Given the description of an element on the screen output the (x, y) to click on. 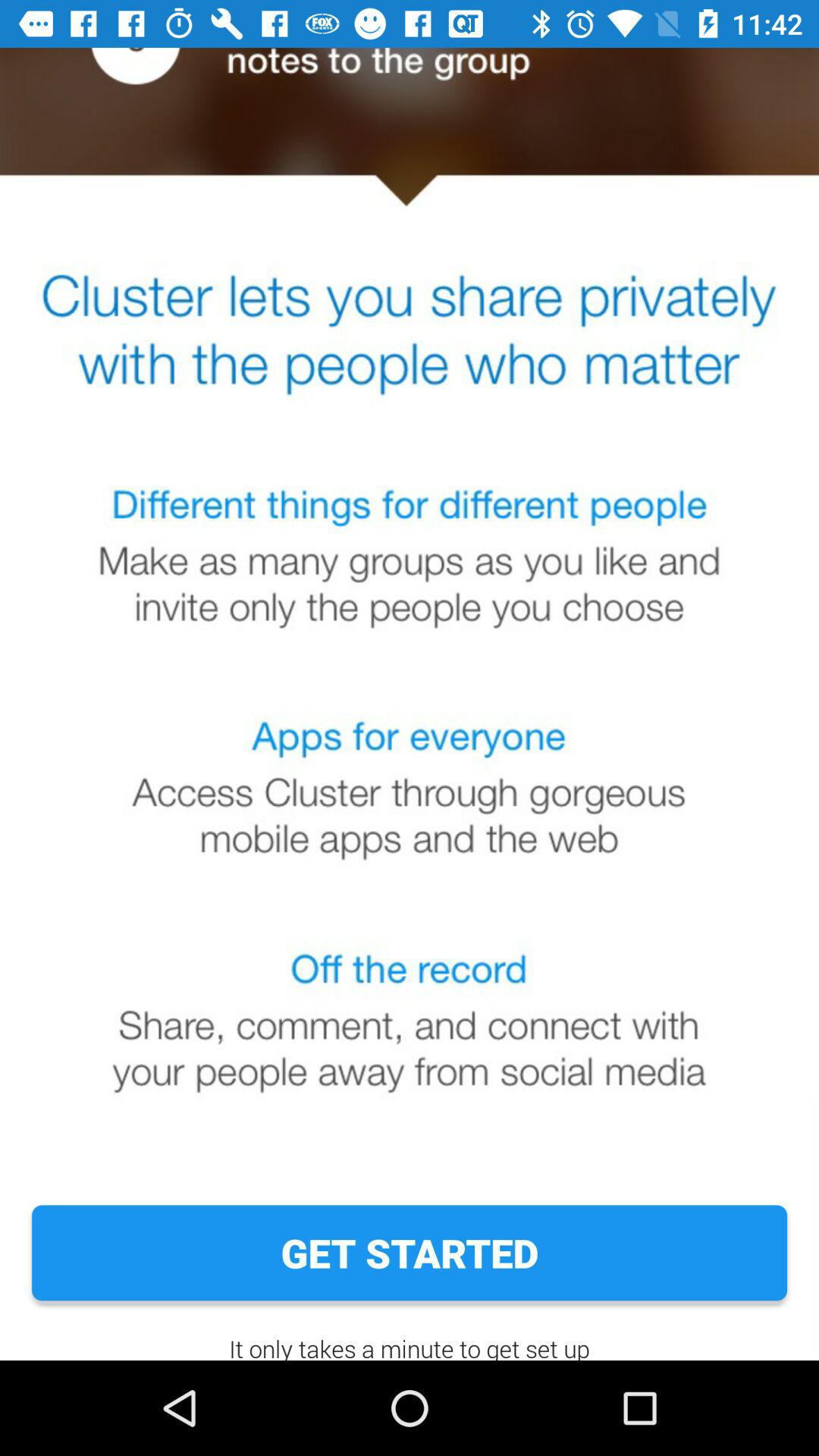
flip until get started item (409, 1252)
